Given the description of an element on the screen output the (x, y) to click on. 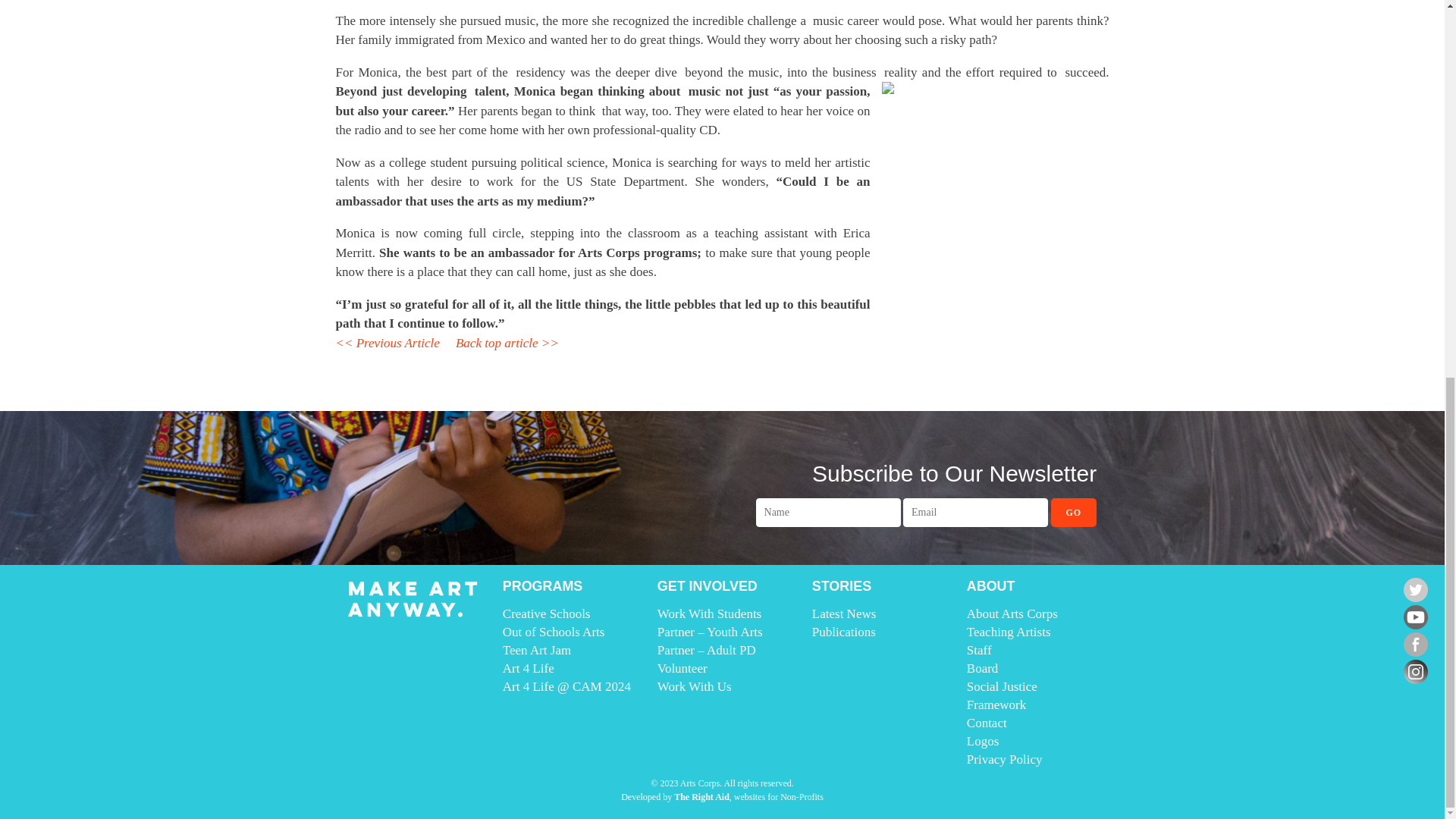
Twitter (1415, 589)
Instagram (1415, 671)
Twitter (1415, 588)
2014-2015 Annual Report (386, 342)
Equity and Social Justice (507, 342)
YouTube (1415, 616)
YouTube (1415, 617)
Instagram (1415, 670)
Facebook (1415, 643)
Facebook (1415, 644)
GO (1074, 512)
